Given the description of an element on the screen output the (x, y) to click on. 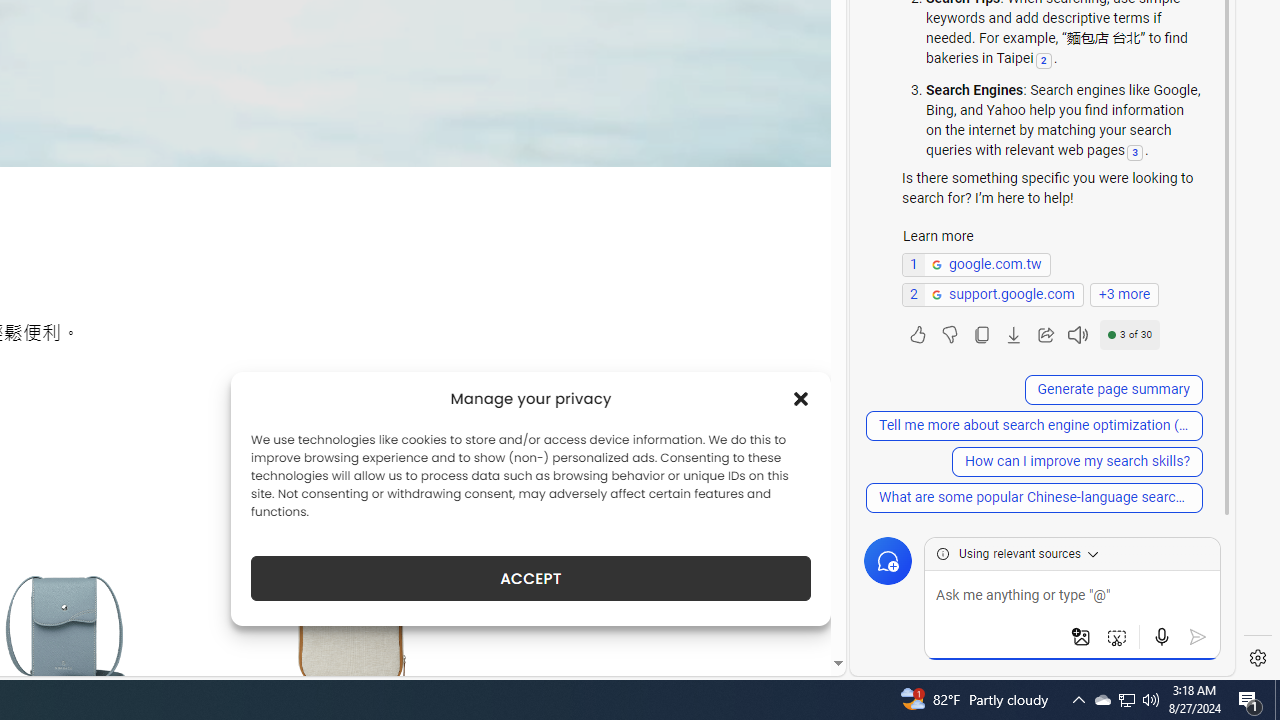
Class: cmplz-close (801, 398)
ACCEPT (530, 578)
